Given the description of an element on the screen output the (x, y) to click on. 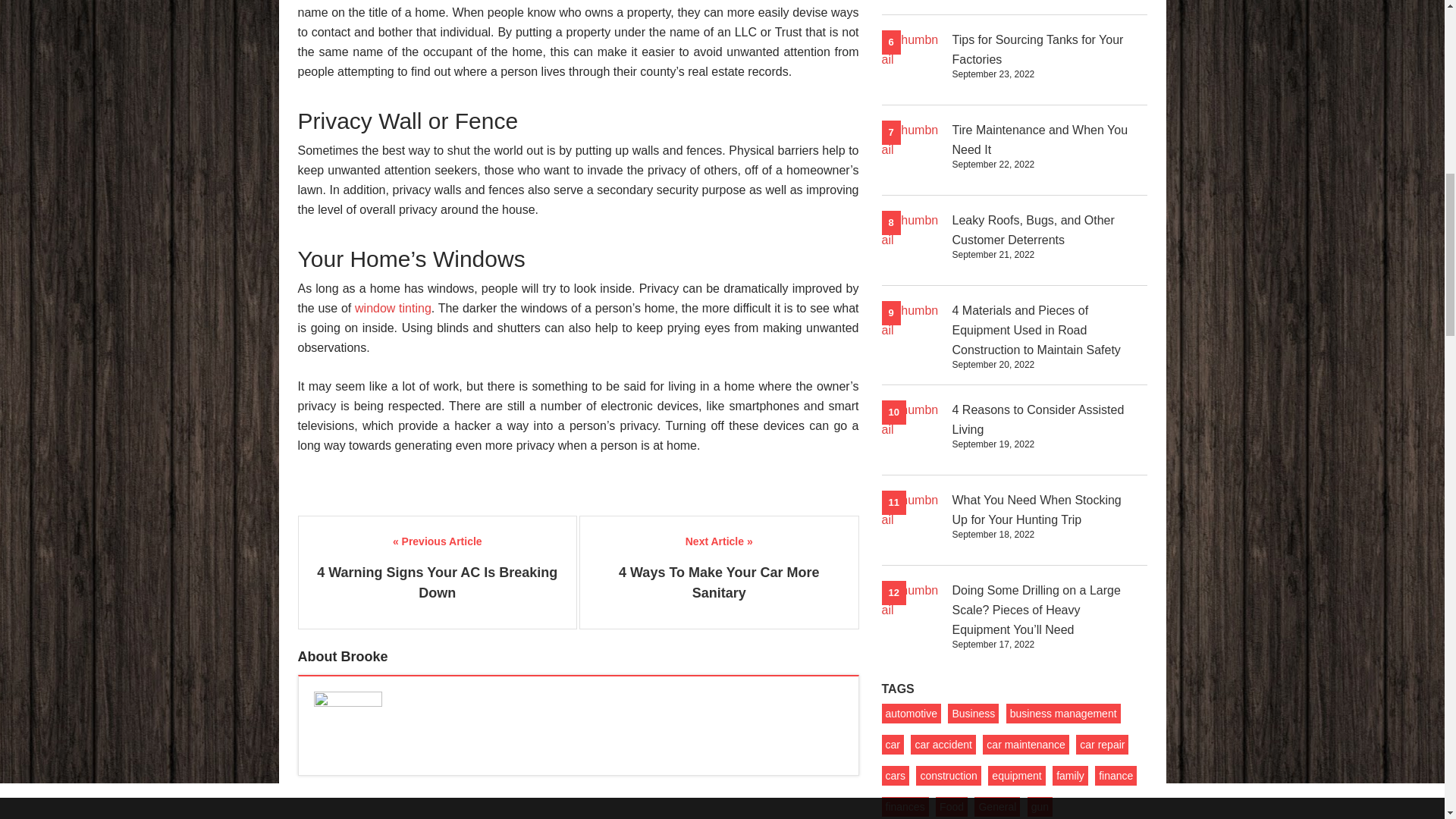
4 Ways To Make Your Car More Sanitary (718, 582)
4 Warning Signs Your AC Is Breaking Down (437, 582)
window tinting (390, 308)
